Given the description of an element on the screen output the (x, y) to click on. 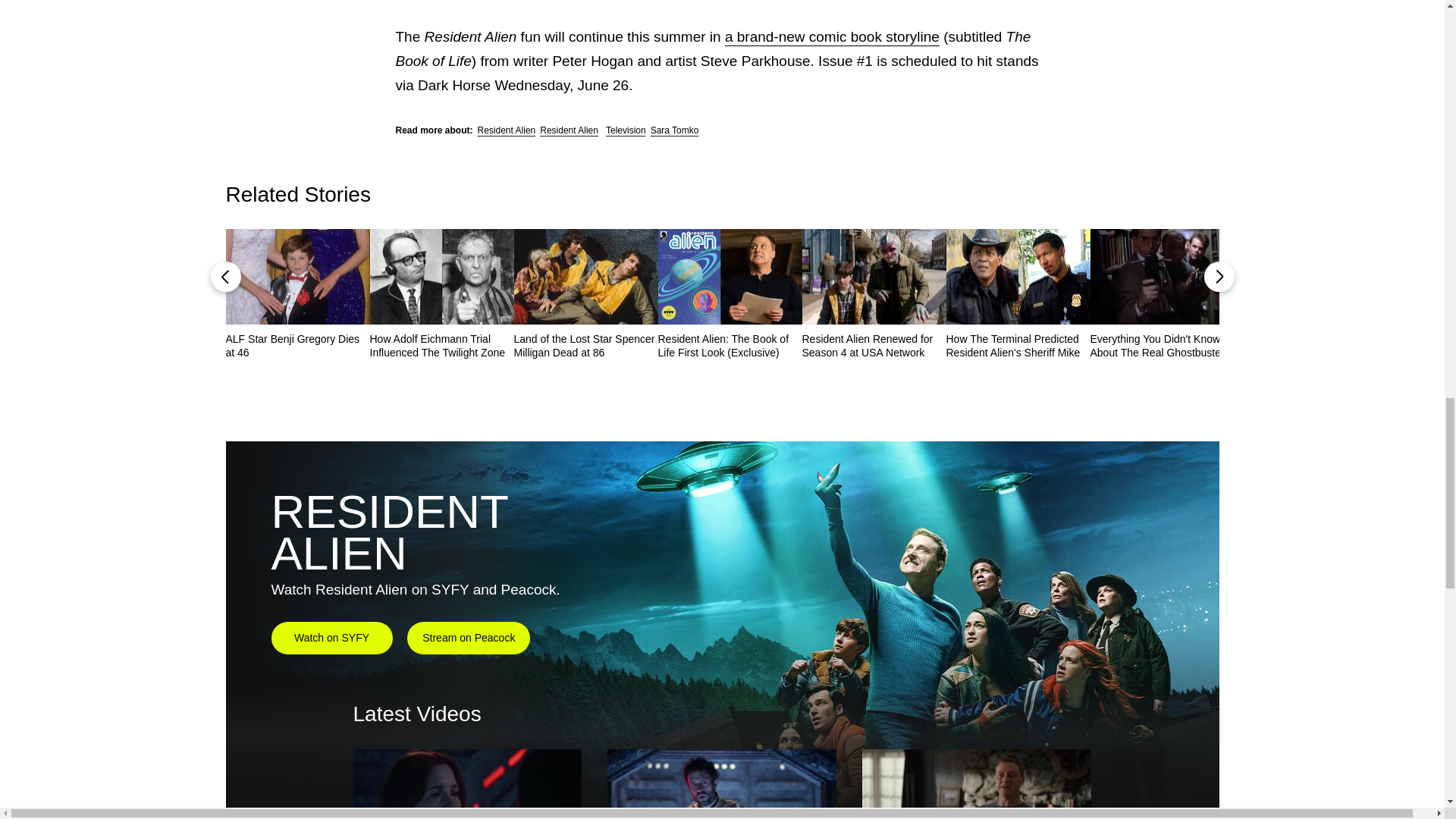
One of the Good Ones: Resident Alien S3 E8 Sneak Peek (975, 784)
Sara Tomko (674, 130)
Television (625, 130)
ALF Star Benji Gregory Dies at 46 (297, 345)
Resident Alien (569, 130)
Rescue Mission: Resident Alien S3 E8 Highlight (467, 784)
Hello Greys: Resident Alien S3 E8 Highlight (721, 784)
Resident Alien (506, 130)
a brand-new comic book storyline (832, 36)
